Given the description of an element on the screen output the (x, y) to click on. 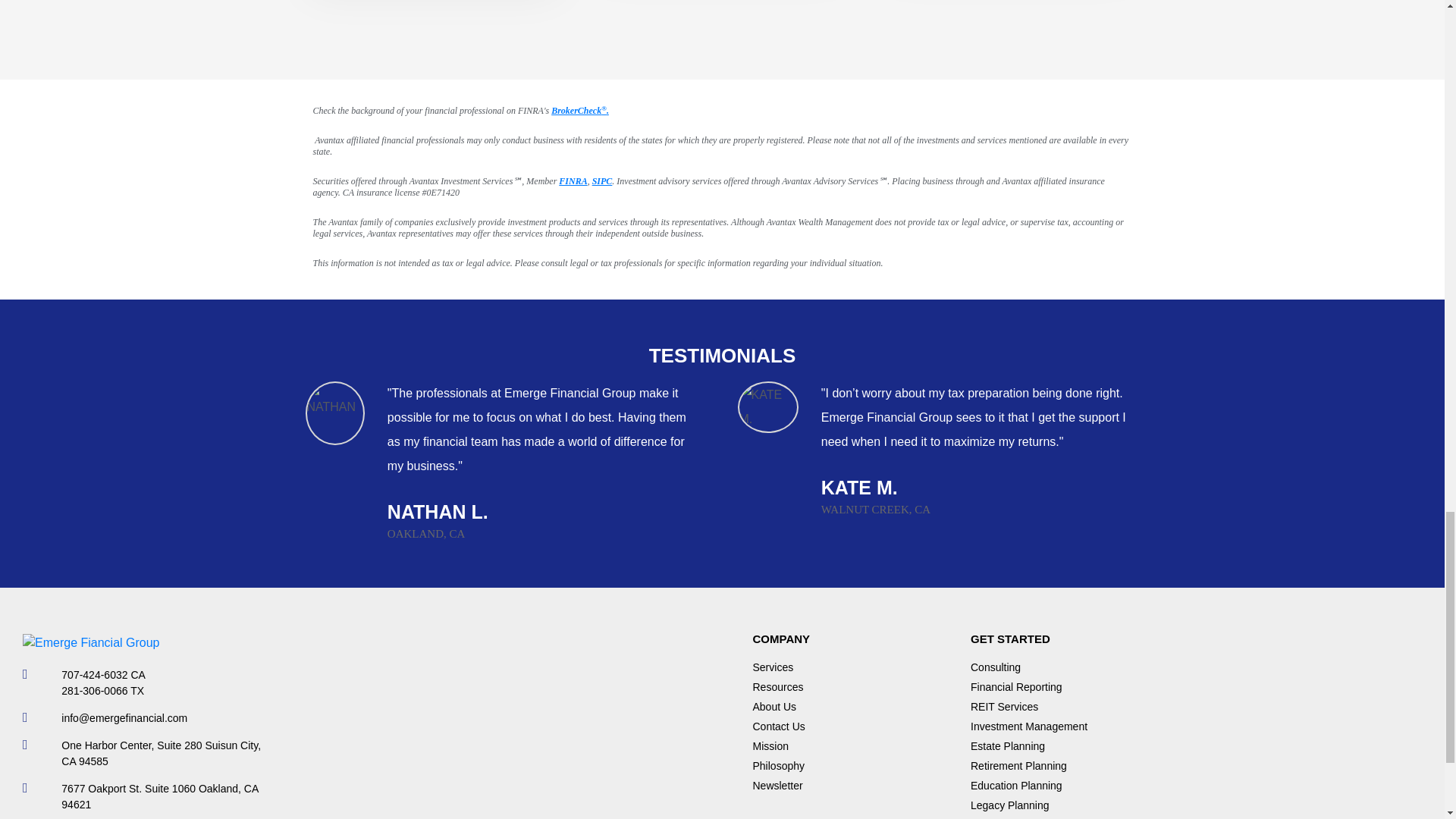
Emerge Fiancial Group (91, 642)
fb:page Facebook Social Plugin (491, 726)
